Given the description of an element on the screen output the (x, y) to click on. 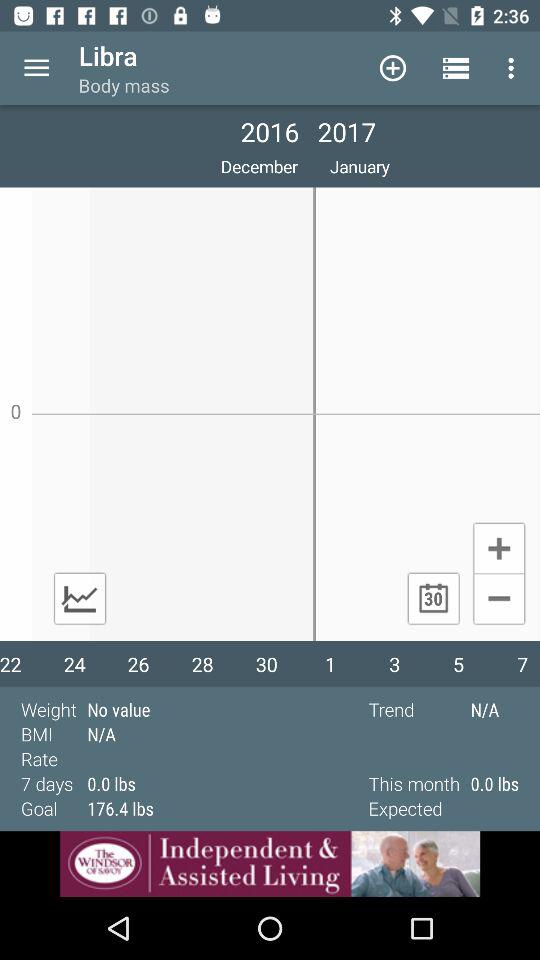
open advertisement (270, 864)
